Given the description of an element on the screen output the (x, y) to click on. 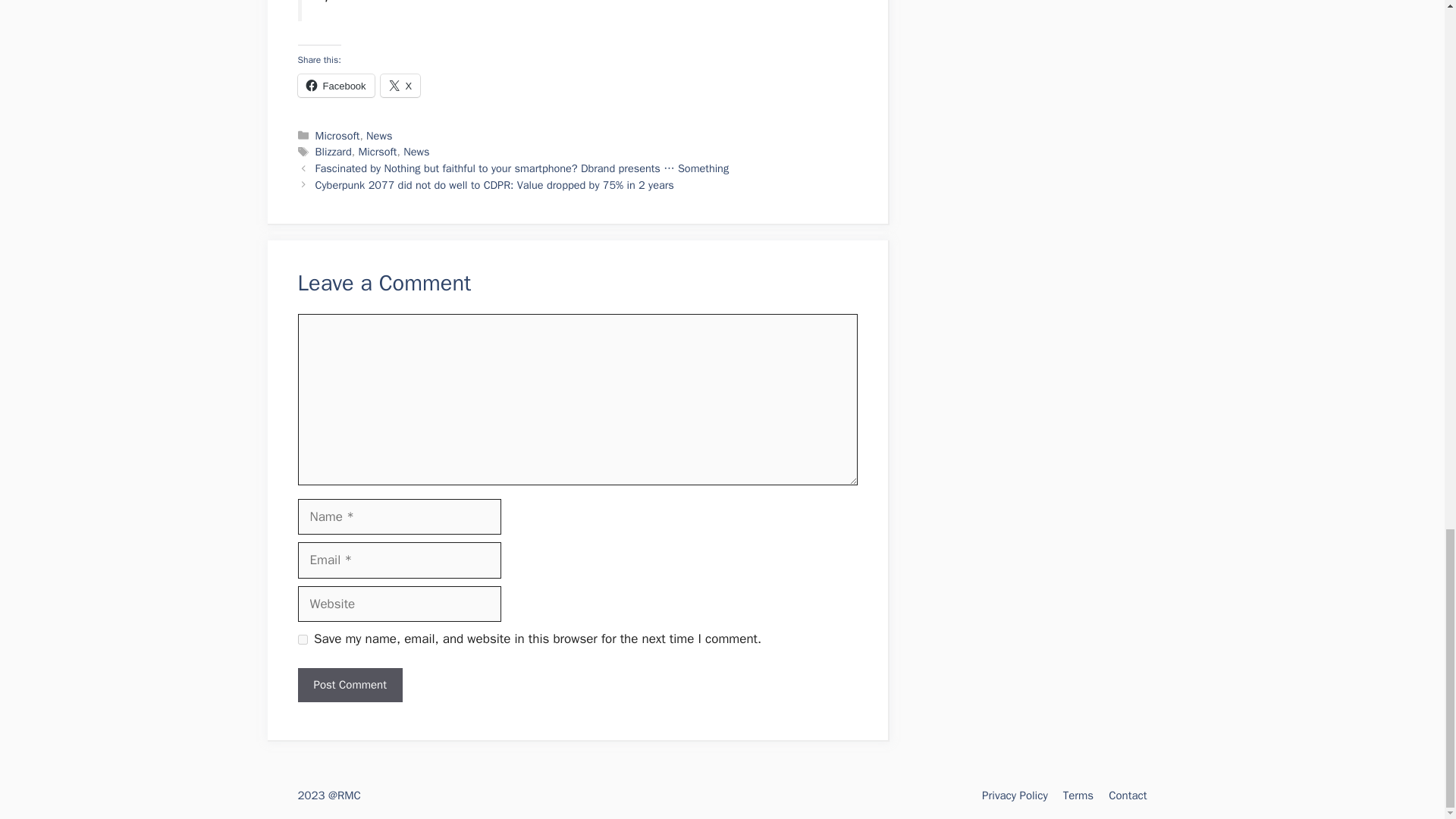
Click to share on X (400, 85)
yes (302, 639)
Post Comment (349, 684)
Click to share on Facebook (335, 85)
Scroll back to top (1406, 15)
